Given the description of an element on the screen output the (x, y) to click on. 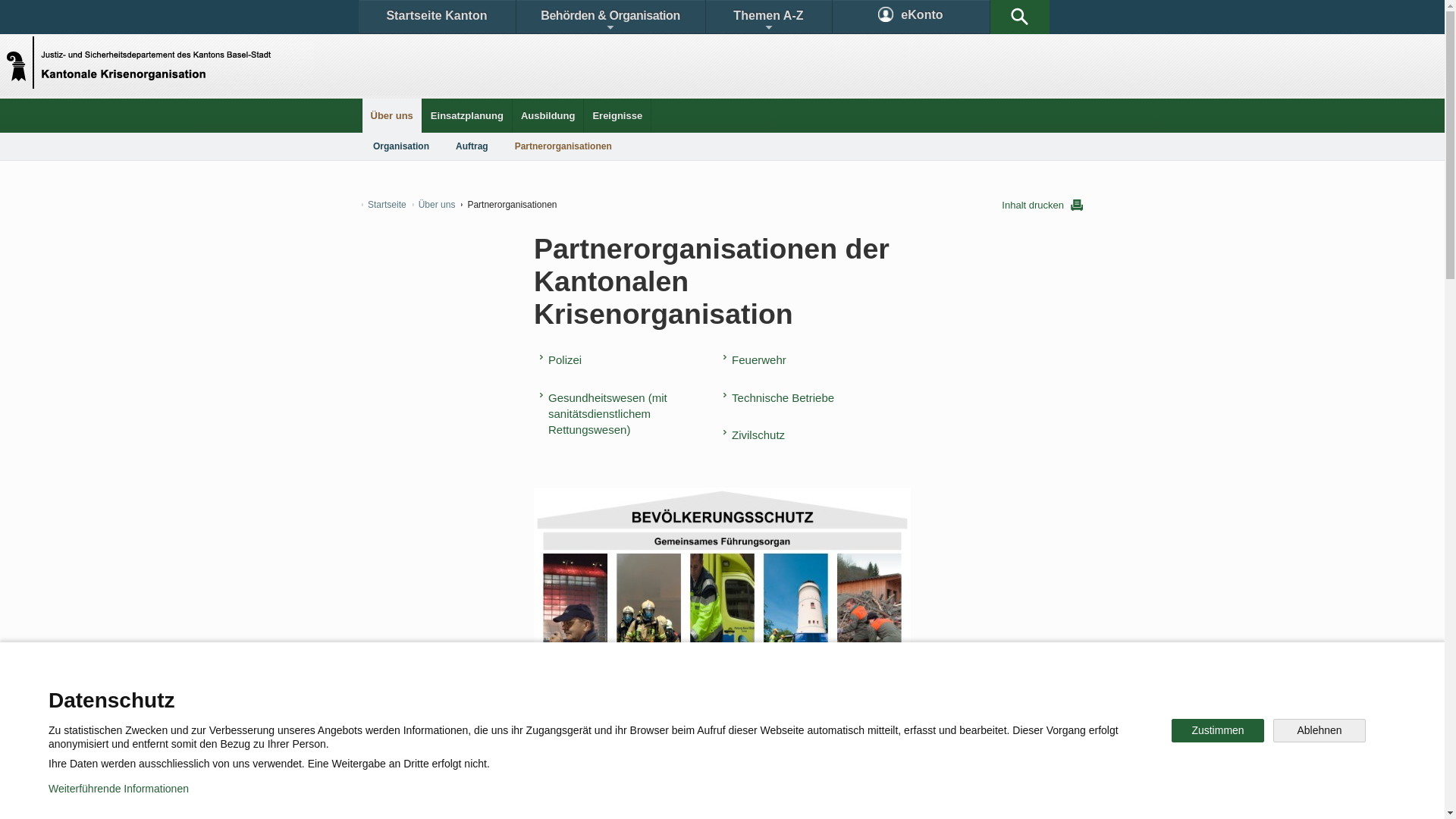
Publikationen Element type: text (795, 693)
Startseite Kanton Element type: text (435, 17)
Instagram Element type: text (738, 746)
Nutzungsregelungen Element type: text (542, 796)
Ablehnen Element type: text (1319, 730)
Auftrag Element type: text (471, 145)
Polizei Element type: text (564, 359)
Gesetze Element type: text (597, 693)
Zur mobilen Ansicht Element type: text (752, 796)
Zivilschutz Element type: text (757, 434)
Ereignisse Element type: text (616, 115)
Themen A-Z Element type: text (768, 17)
Statistiken Element type: text (687, 693)
Technische Betriebe Element type: text (782, 397)
Twitter Element type: text (642, 746)
Facebook Element type: text (547, 746)
eKonto Element type: text (910, 17)
Einsatzplanung Element type: text (466, 115)
Kontakt Element type: text (406, 693)
Ausbildung Element type: text (547, 115)
Startseite Element type: text (383, 204)
Inhalt drucken Element type: text (1041, 204)
Feuerwehr Element type: text (758, 359)
Organisation Element type: text (400, 145)
Bild & Multimedia Element type: text (908, 693)
Zustimmen Element type: text (1217, 730)
Impressum Element type: text (648, 796)
Stadtplan & Karte Element type: text (504, 693)
